Given the description of an element on the screen output the (x, y) to click on. 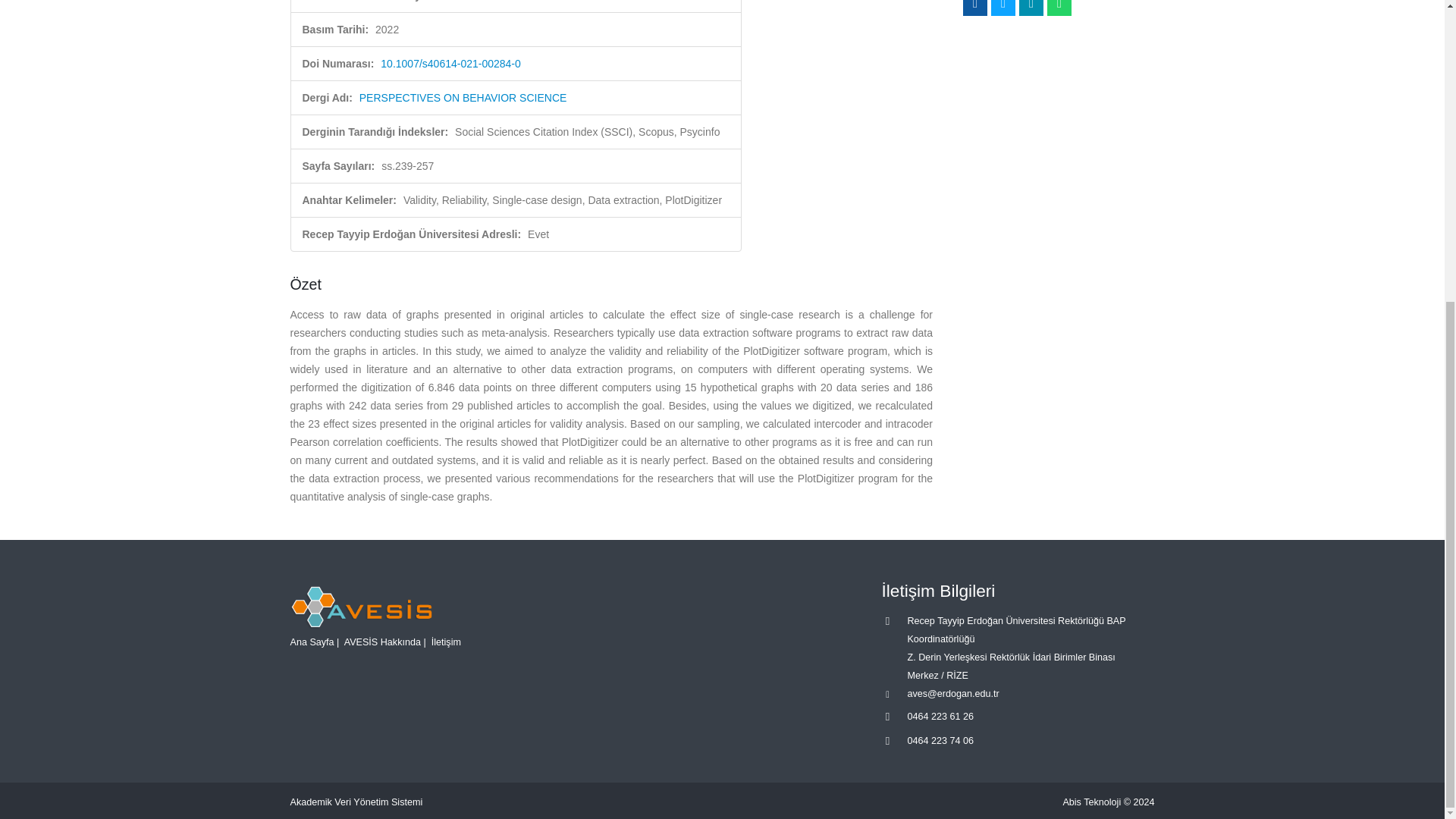
0464 223 74 06 (940, 740)
Abis Teknoloji (1091, 801)
PERSPECTIVES ON BEHAVIOR SCIENCE (463, 97)
Ana Sayfa (311, 642)
0464 223 61 26 (940, 716)
